Given the description of an element on the screen output the (x, y) to click on. 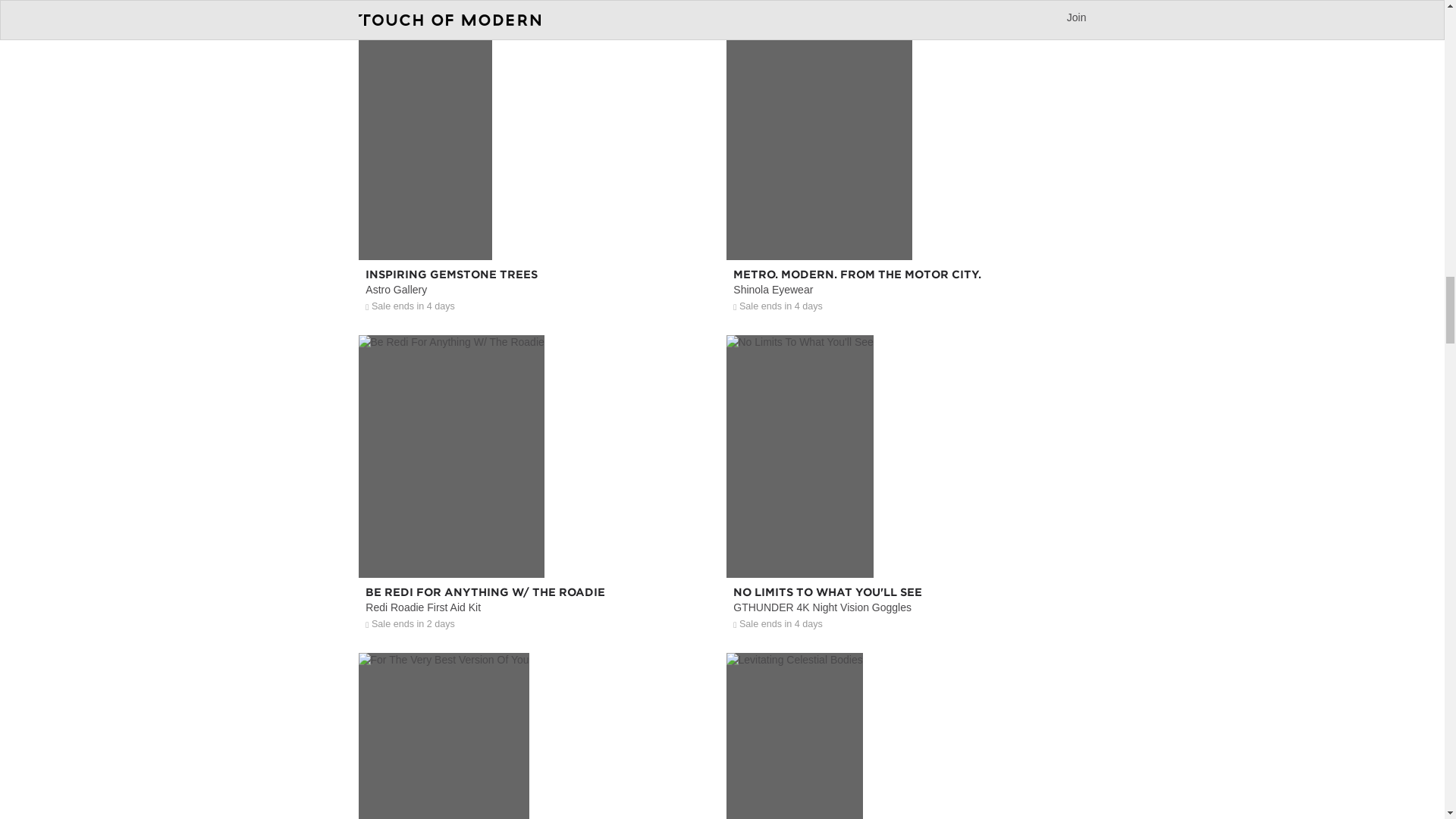
Your Inner 12-Year-Old Is Gonna Flip! (906, 2)
Metro. Modern. From The Motor City. (906, 227)
Inspiring Gemstone Trees (537, 227)
Rustic Elegance. Incomparable Flavor. (537, 2)
